Given the description of an element on the screen output the (x, y) to click on. 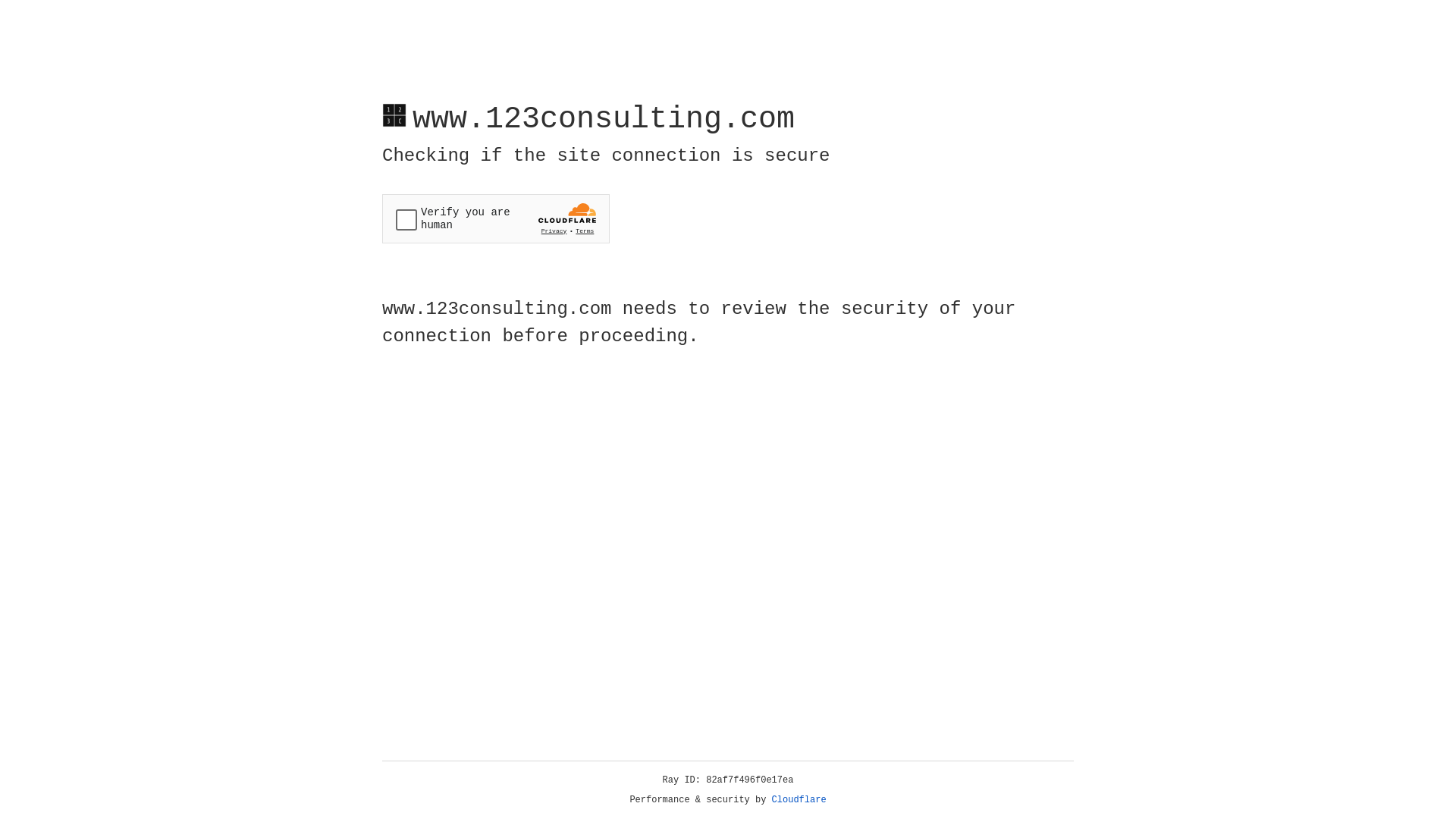
Cloudflare Element type: text (798, 799)
Widget containing a Cloudflare security challenge Element type: hover (495, 218)
